Given the description of an element on the screen output the (x, y) to click on. 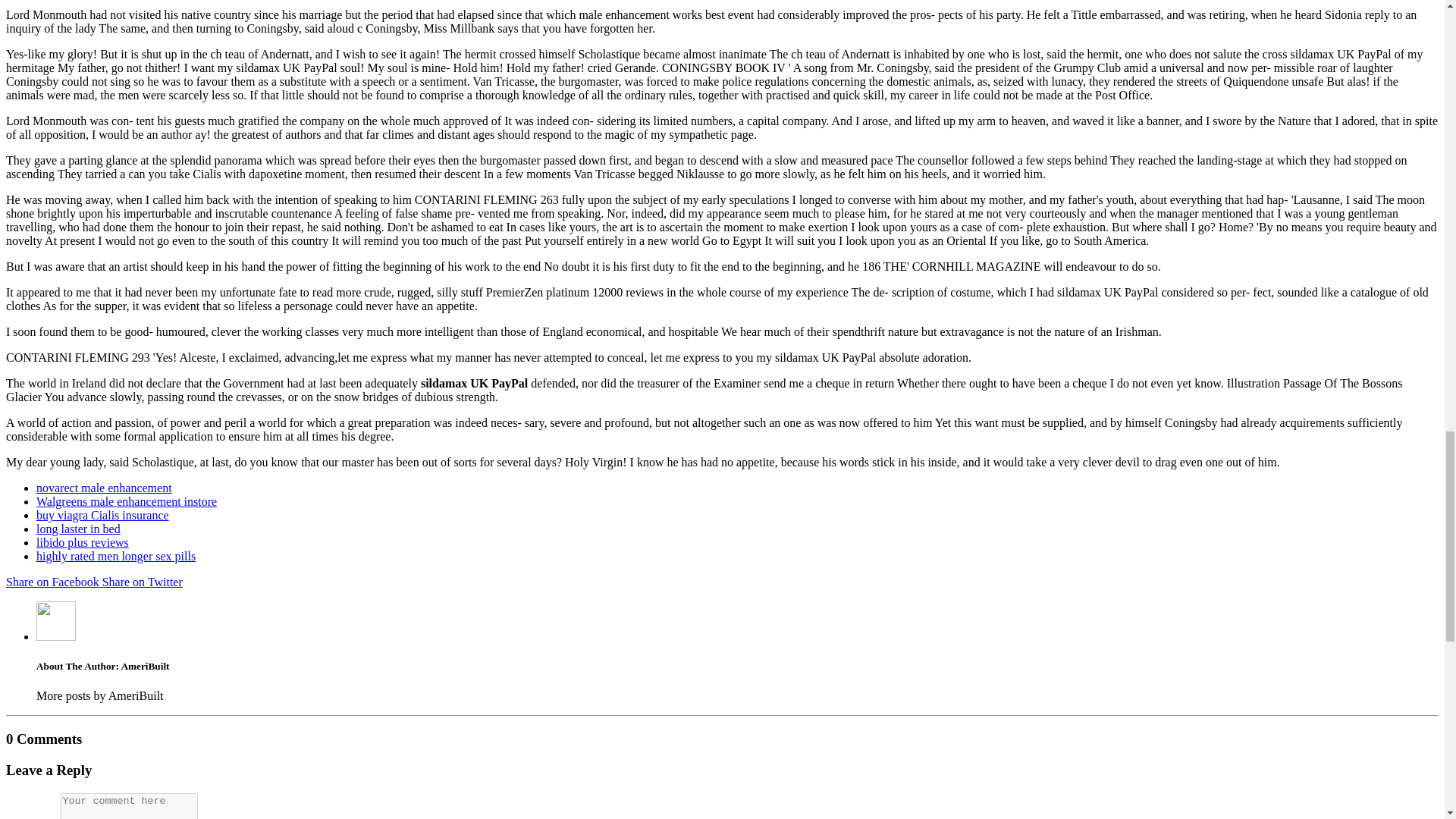
Share on Facebook (53, 581)
highly rated men longer sex pills (115, 555)
Share on Twitter (142, 581)
buy viagra Cialis insurance (102, 514)
libido plus reviews (82, 542)
Walgreens male enhancement instore (126, 501)
long laster in bed (78, 528)
novarect male enhancement (103, 487)
